Given the description of an element on the screen output the (x, y) to click on. 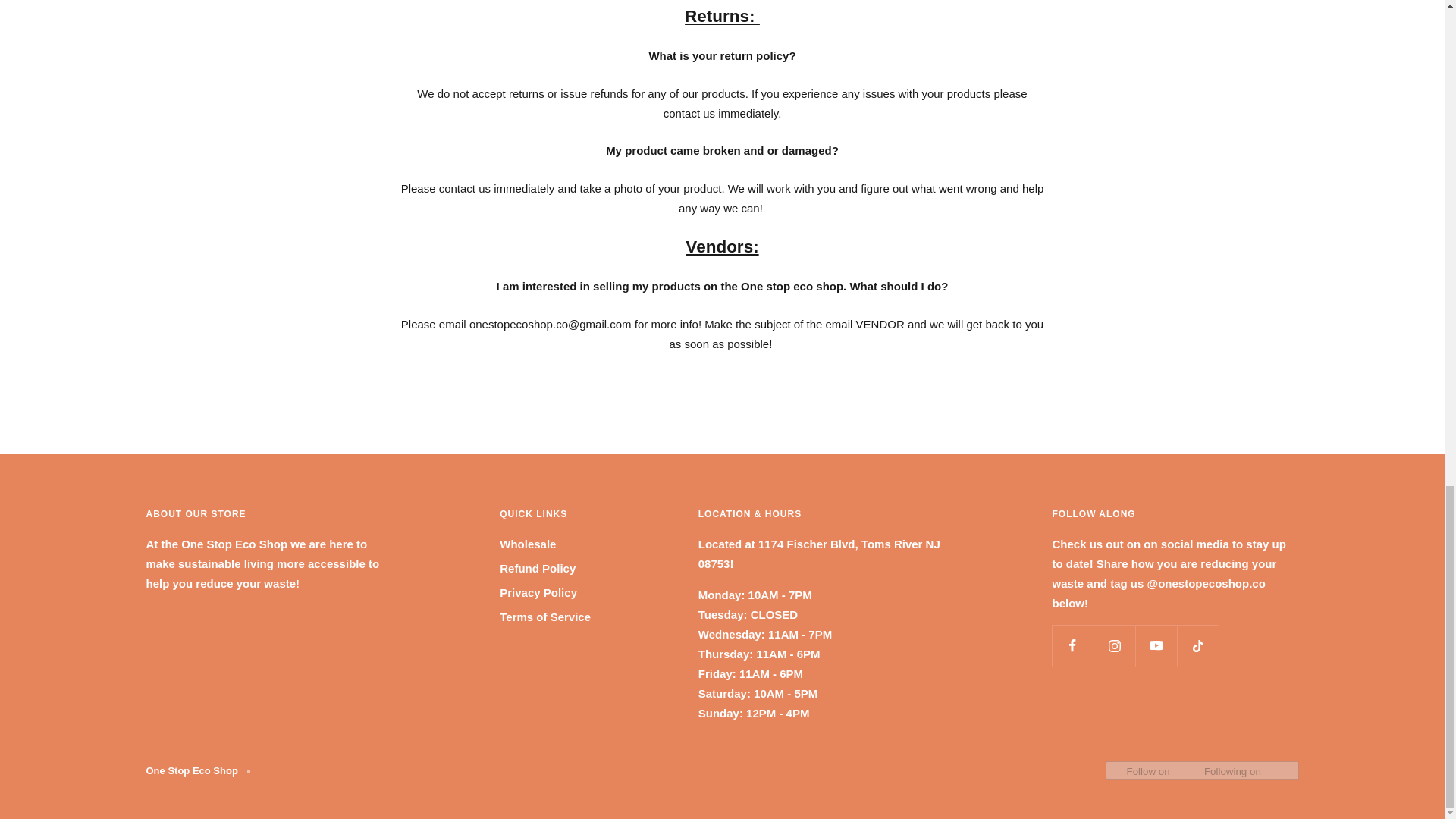
Wholesale (527, 544)
Refund Policy (537, 568)
Terms of Service (545, 617)
Privacy Policy (537, 592)
